Given the description of an element on the screen output the (x, y) to click on. 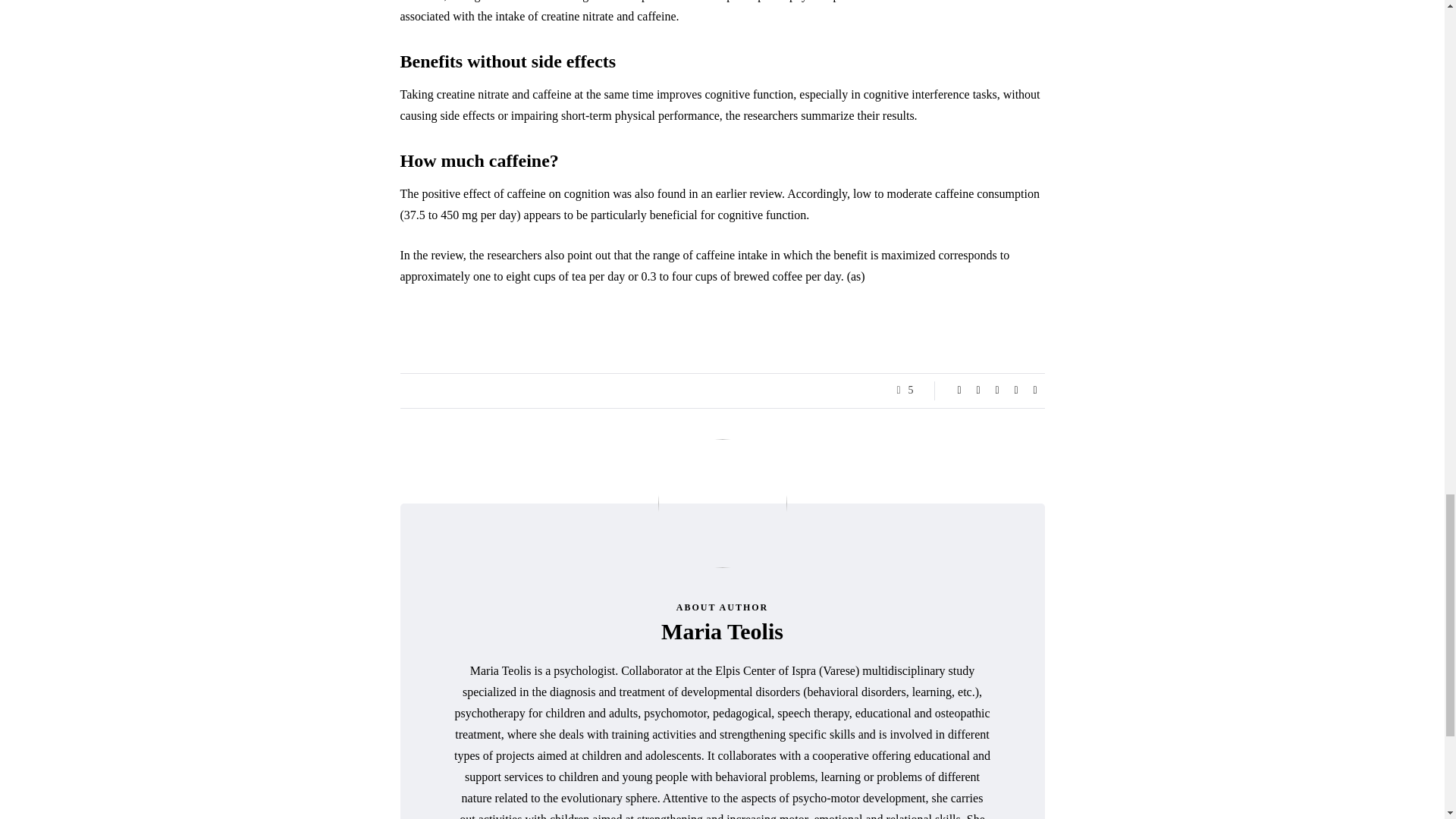
Tweet this (978, 390)
Share with LinkedIn (996, 390)
Pin this (1016, 390)
Share to WhatsApp (1034, 390)
Share with Facebook (958, 390)
Maria Teolis (722, 631)
Posts by Maria Teolis (722, 631)
